Given the description of an element on the screen output the (x, y) to click on. 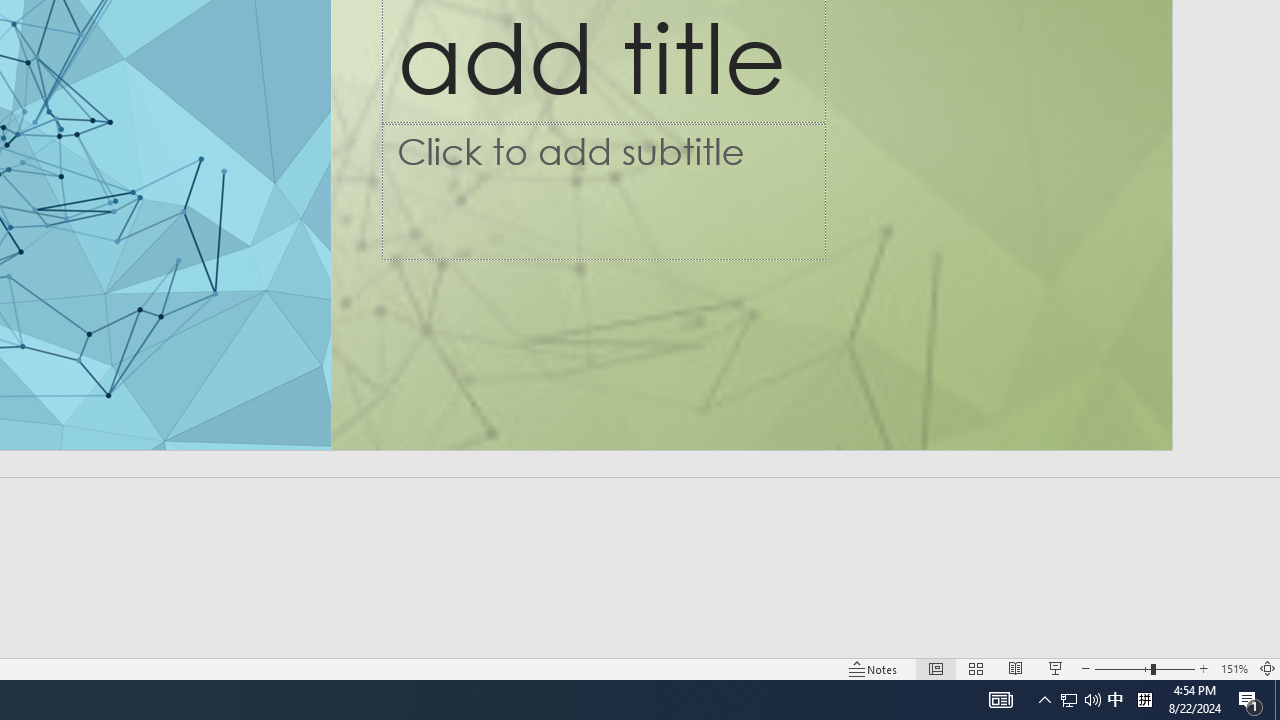
Zoom 151% (1234, 668)
